Given the description of an element on the screen output the (x, y) to click on. 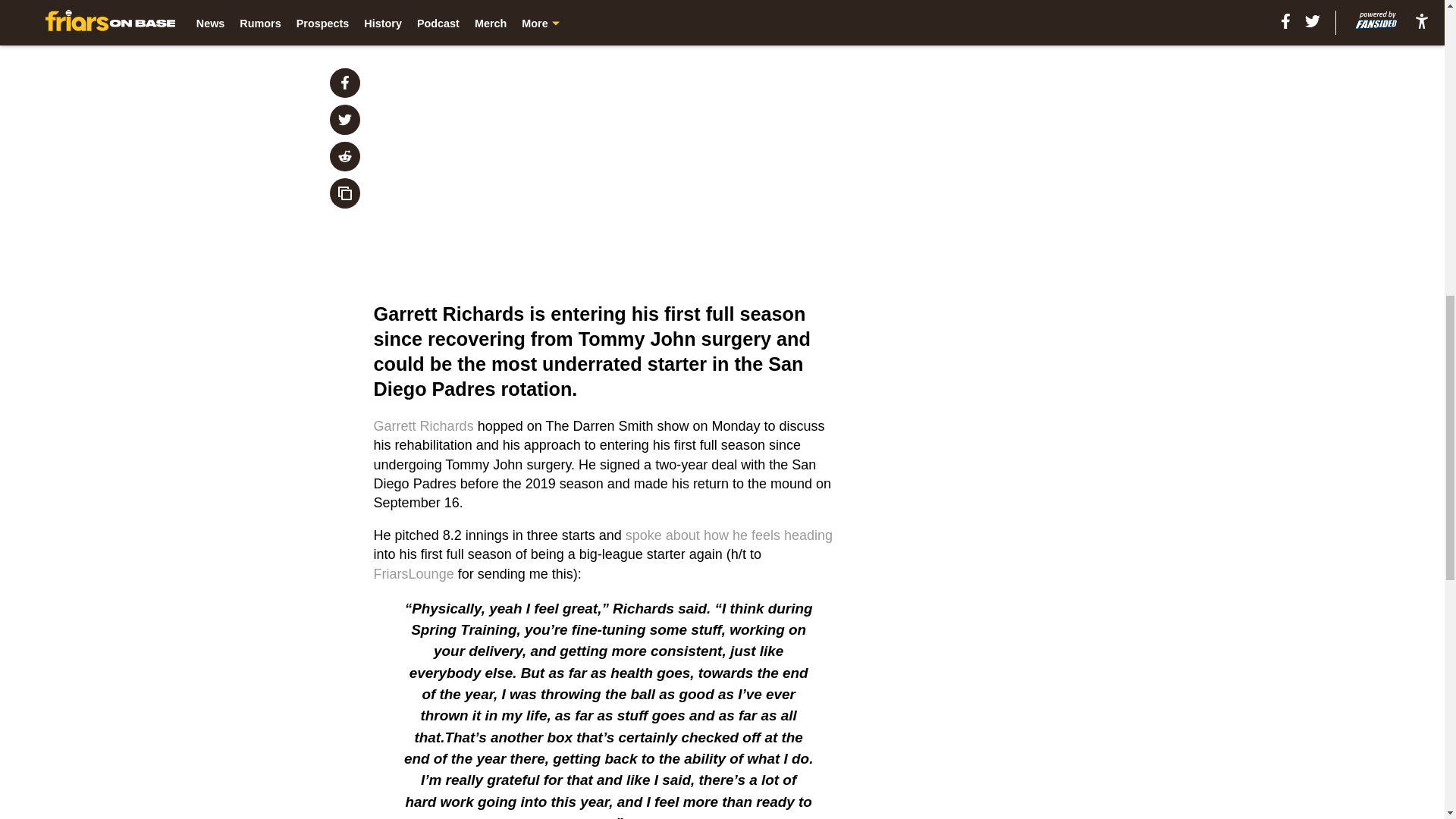
spoke about how he feels heading (729, 534)
Garrett Richards (424, 426)
FriarsLounge (414, 573)
